Given the description of an element on the screen output the (x, y) to click on. 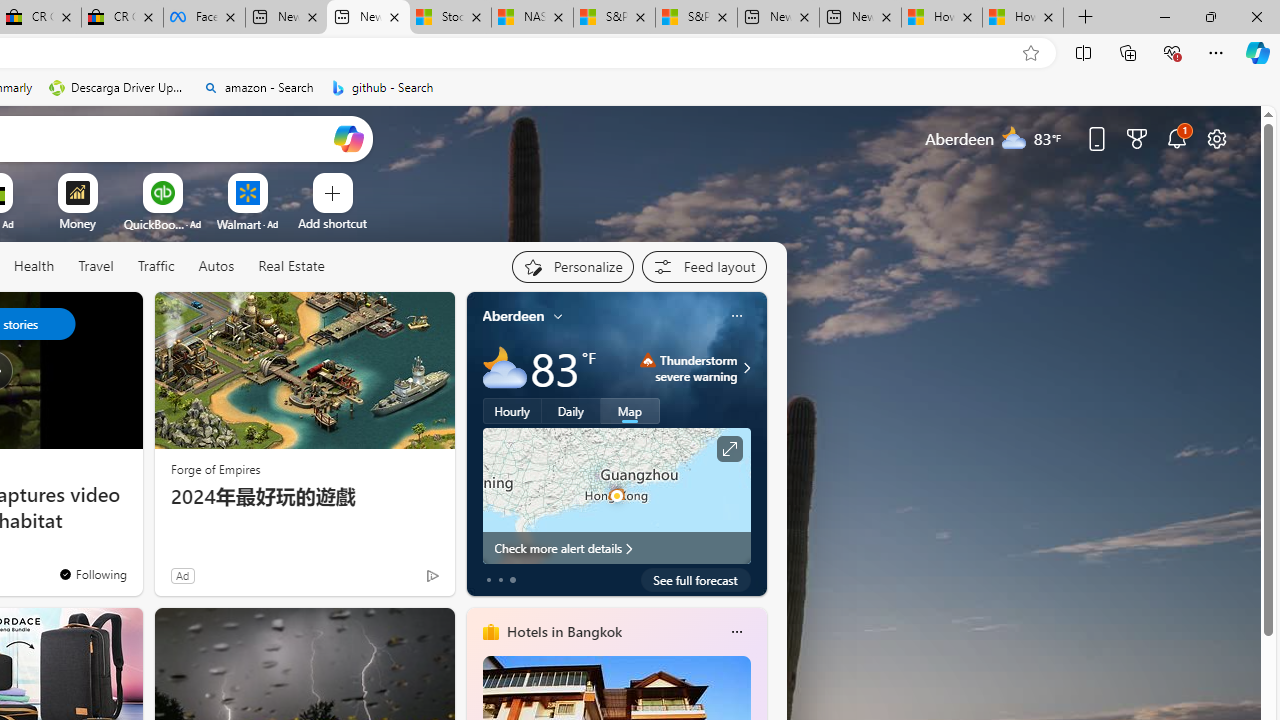
Add a site (332, 223)
Descarga Driver Updater (118, 88)
Map (630, 411)
Page settings (1216, 138)
Facebook (203, 17)
How to Use a Monitor With Your Closed Laptop (1023, 17)
Autos (215, 265)
More options (736, 631)
Hourly (511, 411)
